Given the description of an element on the screen output the (x, y) to click on. 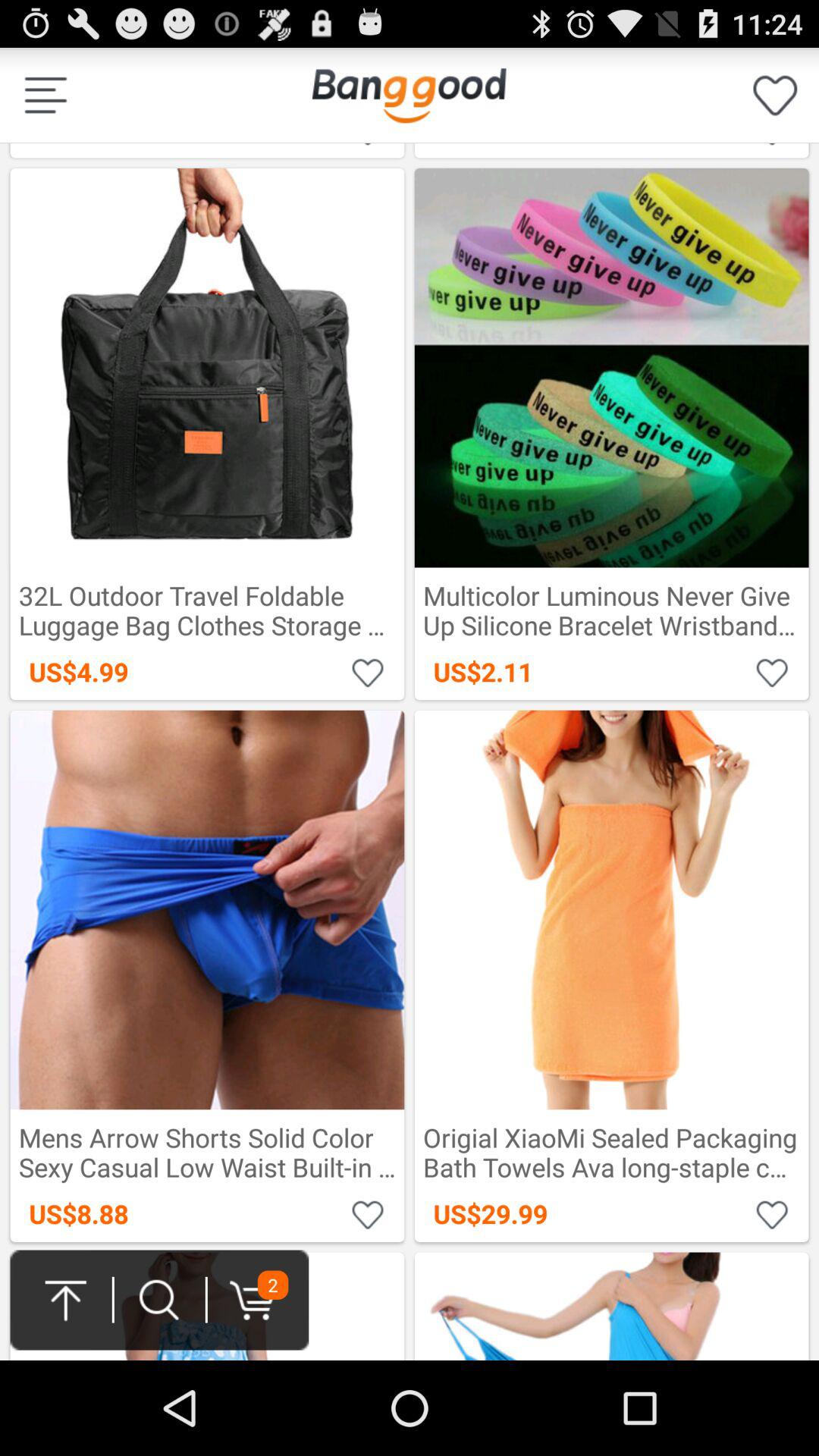
add to favorites (368, 145)
